Given the description of an element on the screen output the (x, y) to click on. 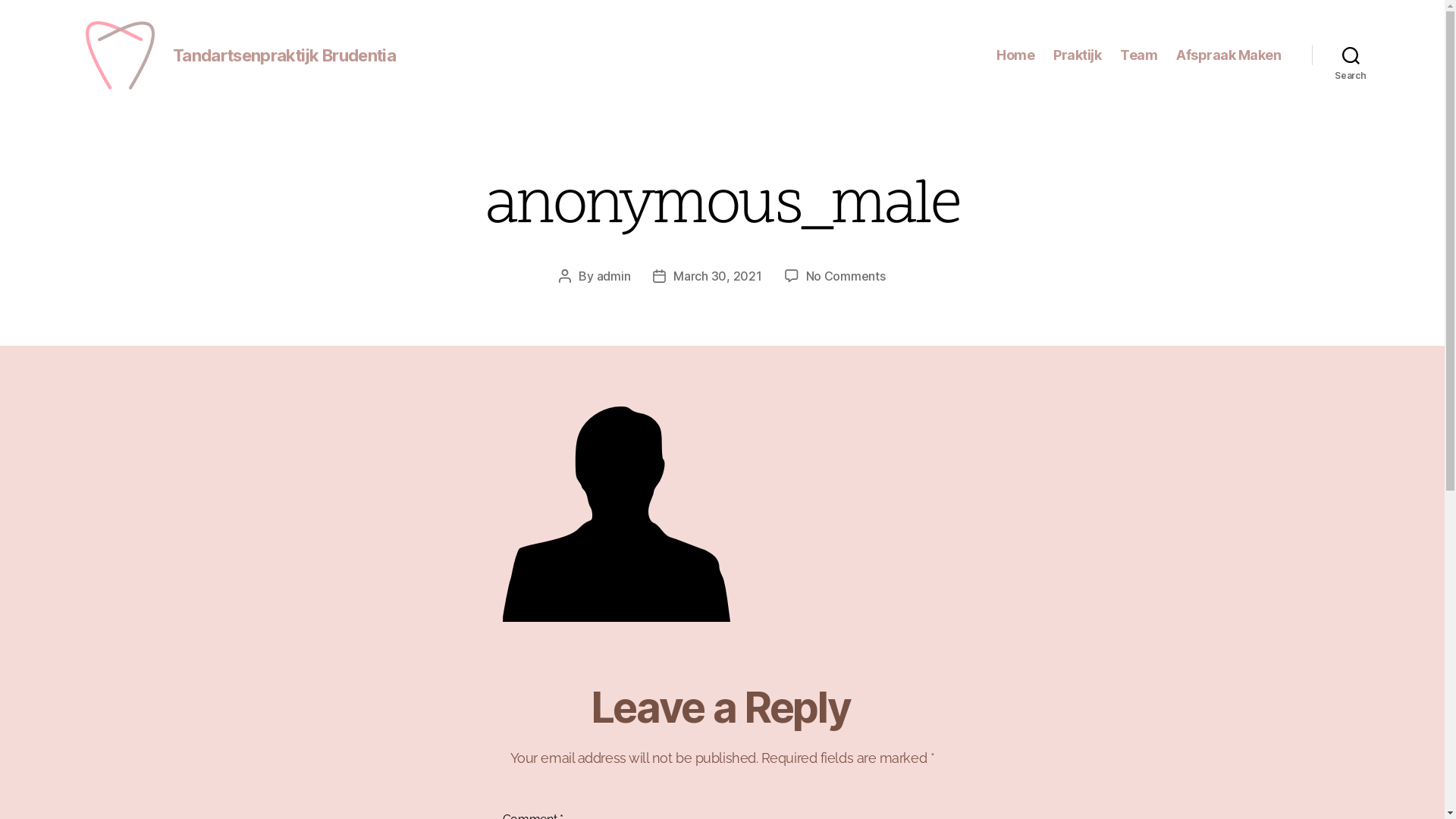
Afspraak Maken Element type: text (1228, 55)
Home Element type: text (1015, 55)
March 30, 2021 Element type: text (717, 275)
No Comments
on anonymous_male Element type: text (845, 275)
Search Element type: text (1350, 55)
Praktijk Element type: text (1077, 55)
admin Element type: text (613, 275)
Team Element type: text (1138, 55)
